Given the description of an element on the screen output the (x, y) to click on. 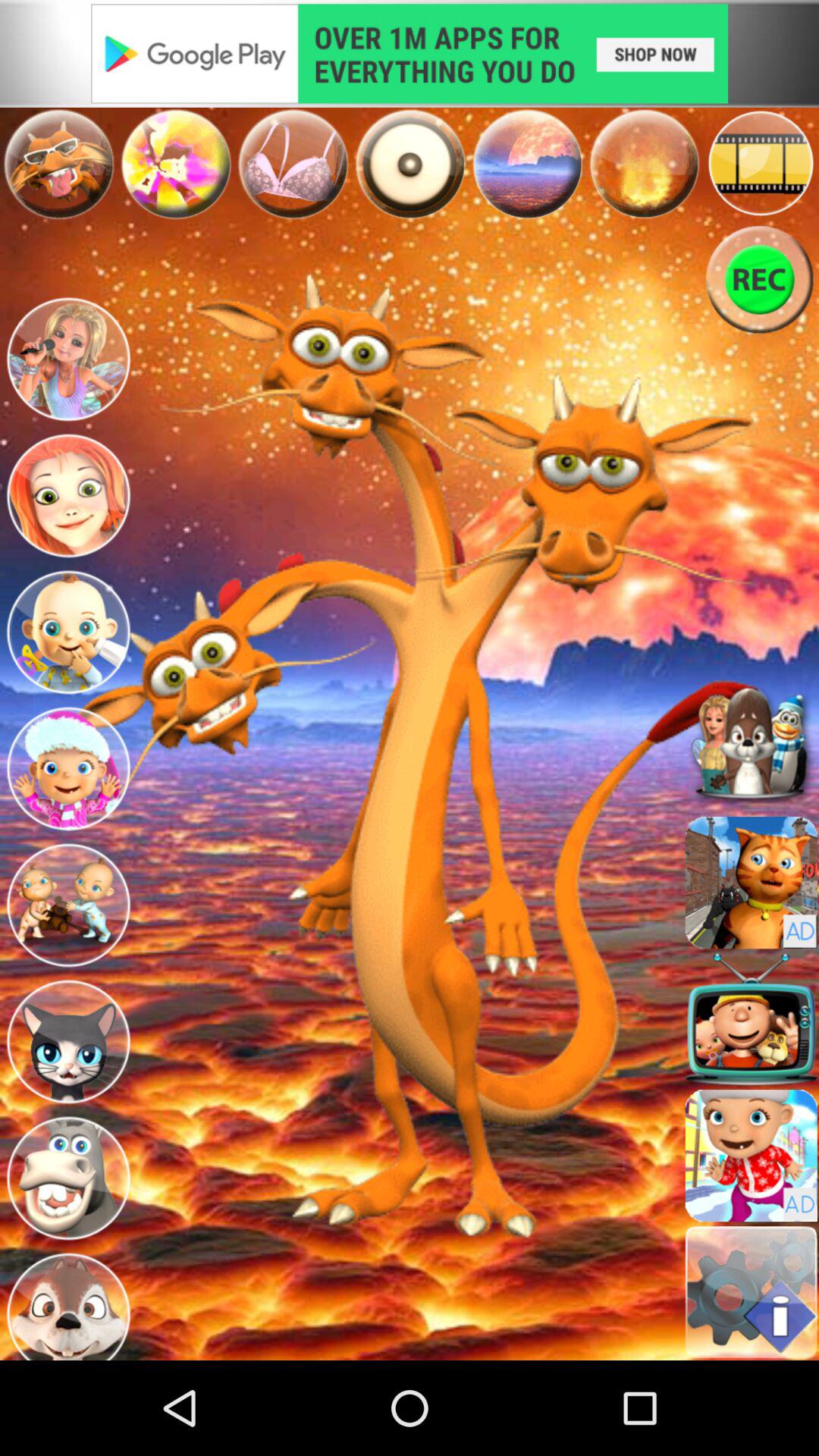
game (751, 1155)
